Given the description of an element on the screen output the (x, y) to click on. 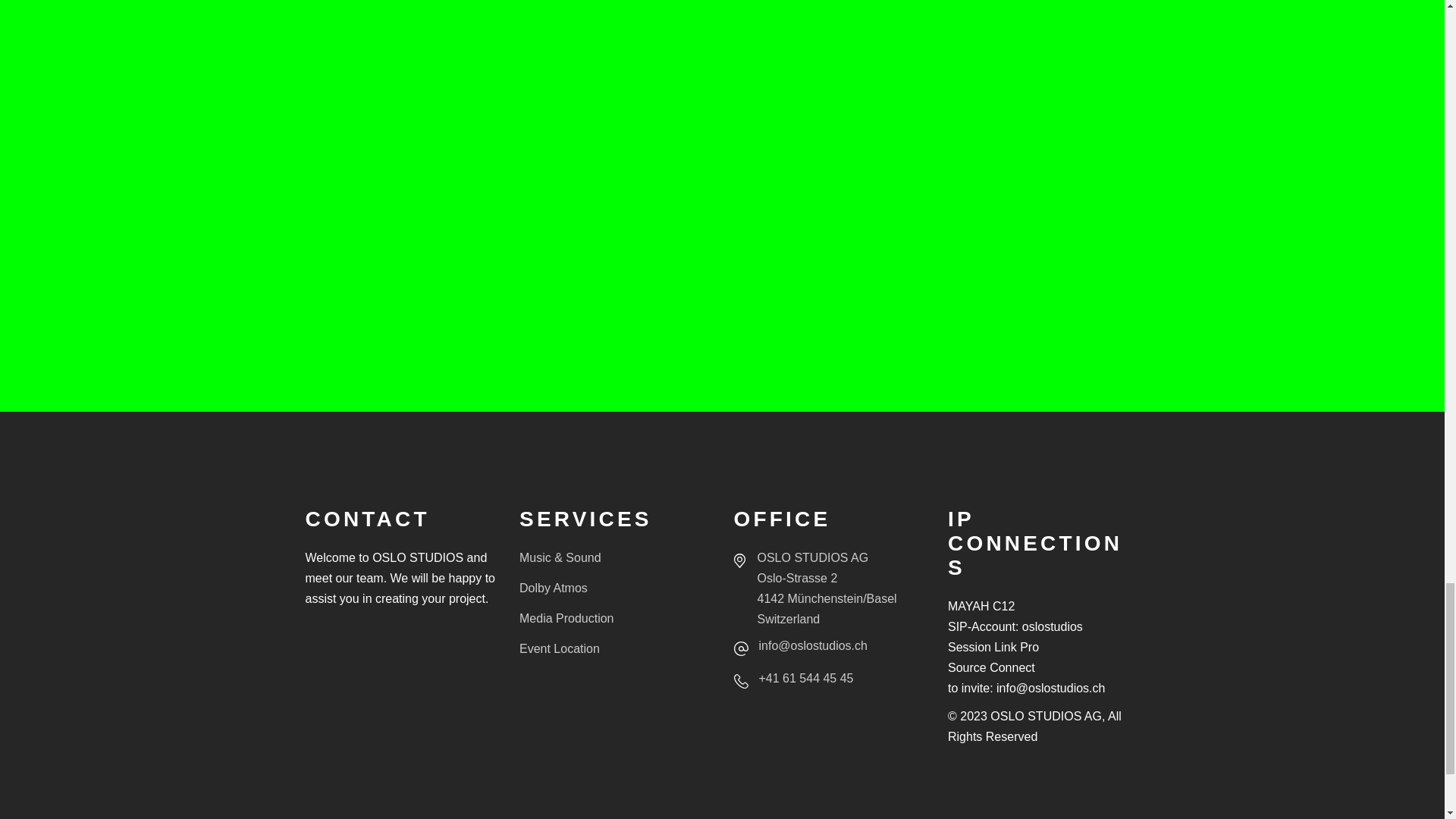
Media Production (566, 617)
Event Location (559, 648)
Dolby Atmos (553, 587)
